Given the description of an element on the screen output the (x, y) to click on. 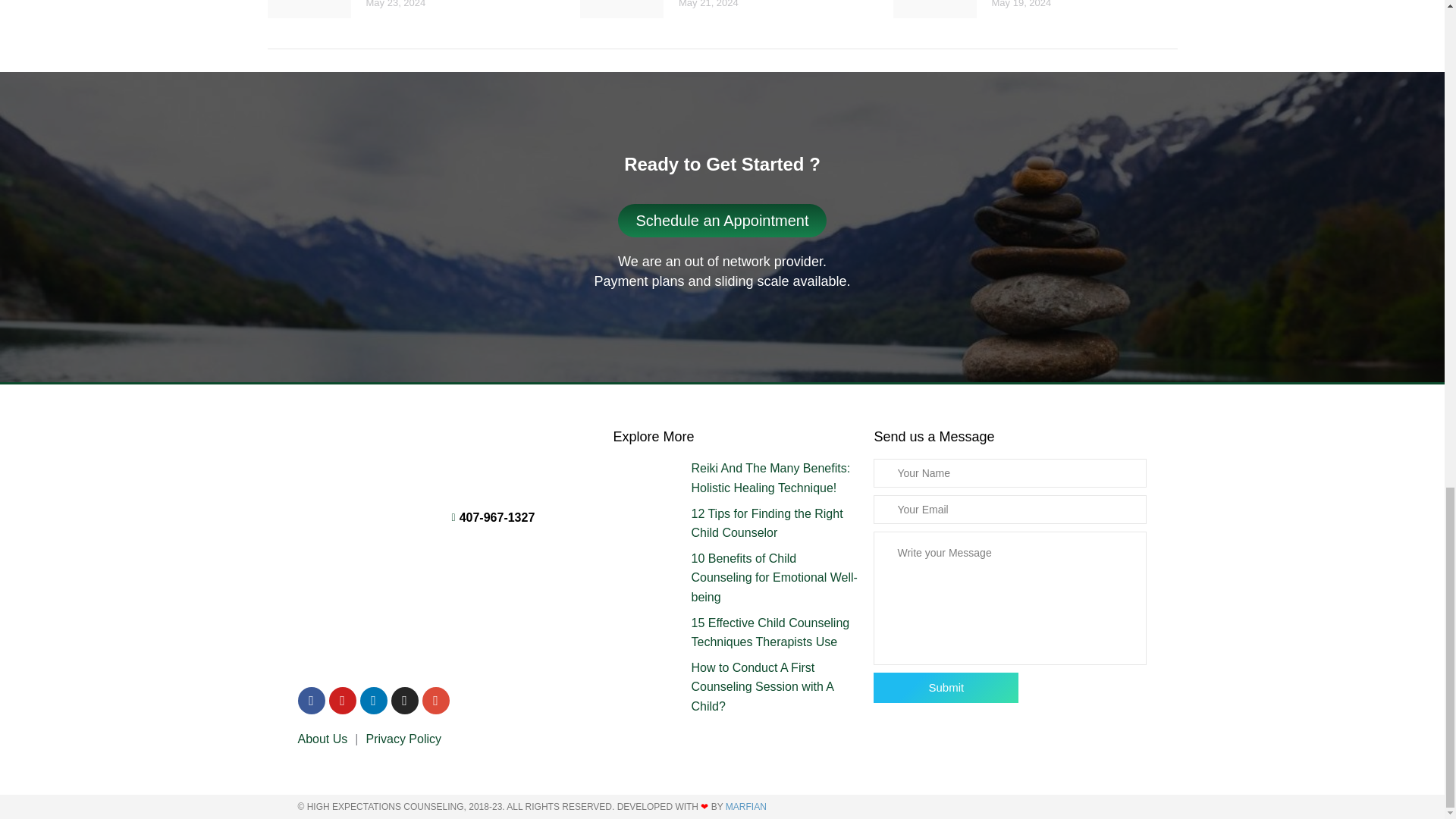
Submit (945, 687)
